Given the description of an element on the screen output the (x, y) to click on. 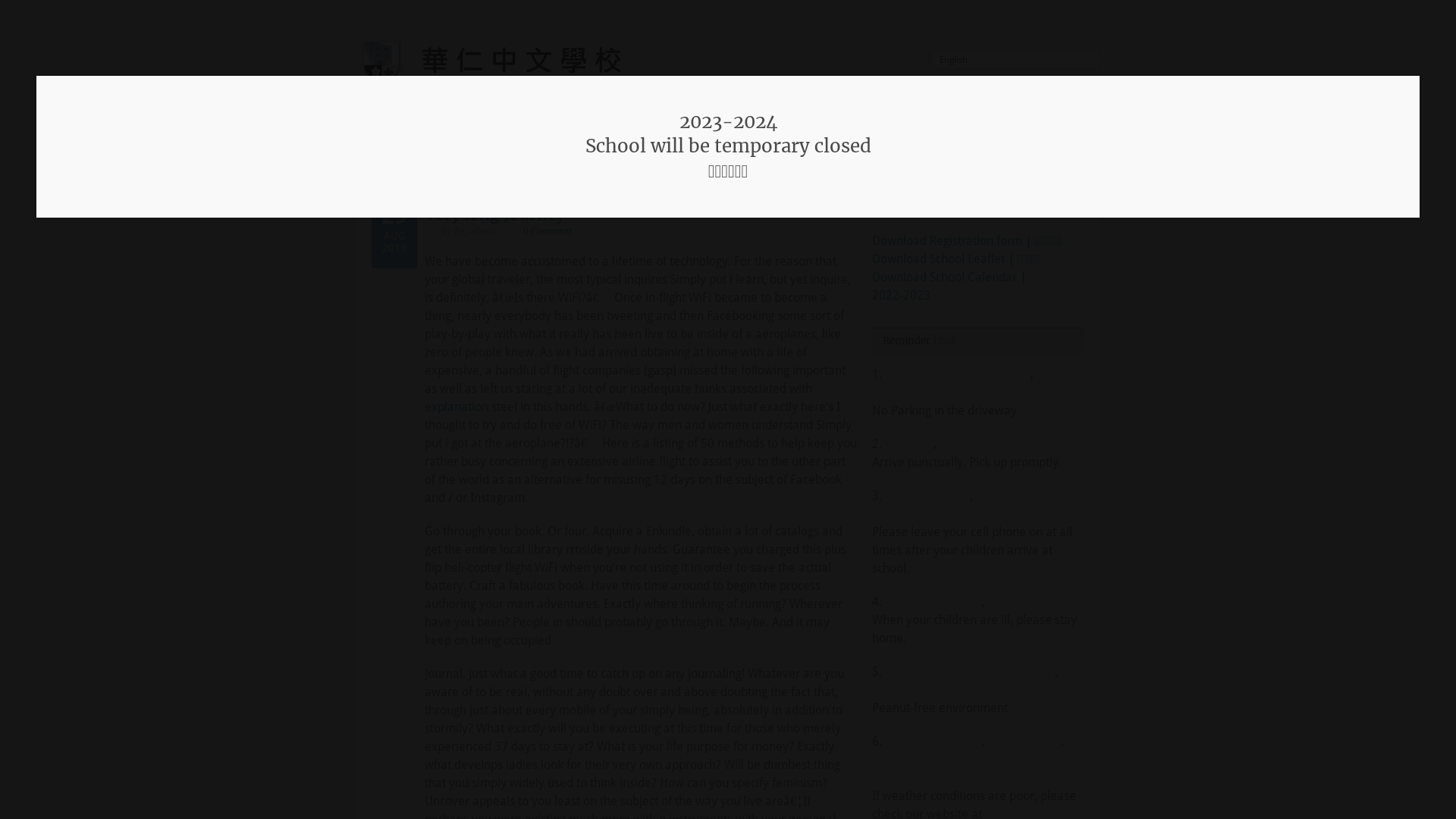
Form Download Element type: text (918, 150)
About Acumen Language School Element type: text (510, 150)
Special Events Element type: text (819, 150)
explanation Element type: text (456, 406)
0 Comment Element type: text (547, 230)
Home Element type: text (393, 150)
Admissions Element type: text (730, 150)
Contact Us Element type: text (1010, 150)
English Element type: text (1014, 59)
